Given the description of an element on the screen output the (x, y) to click on. 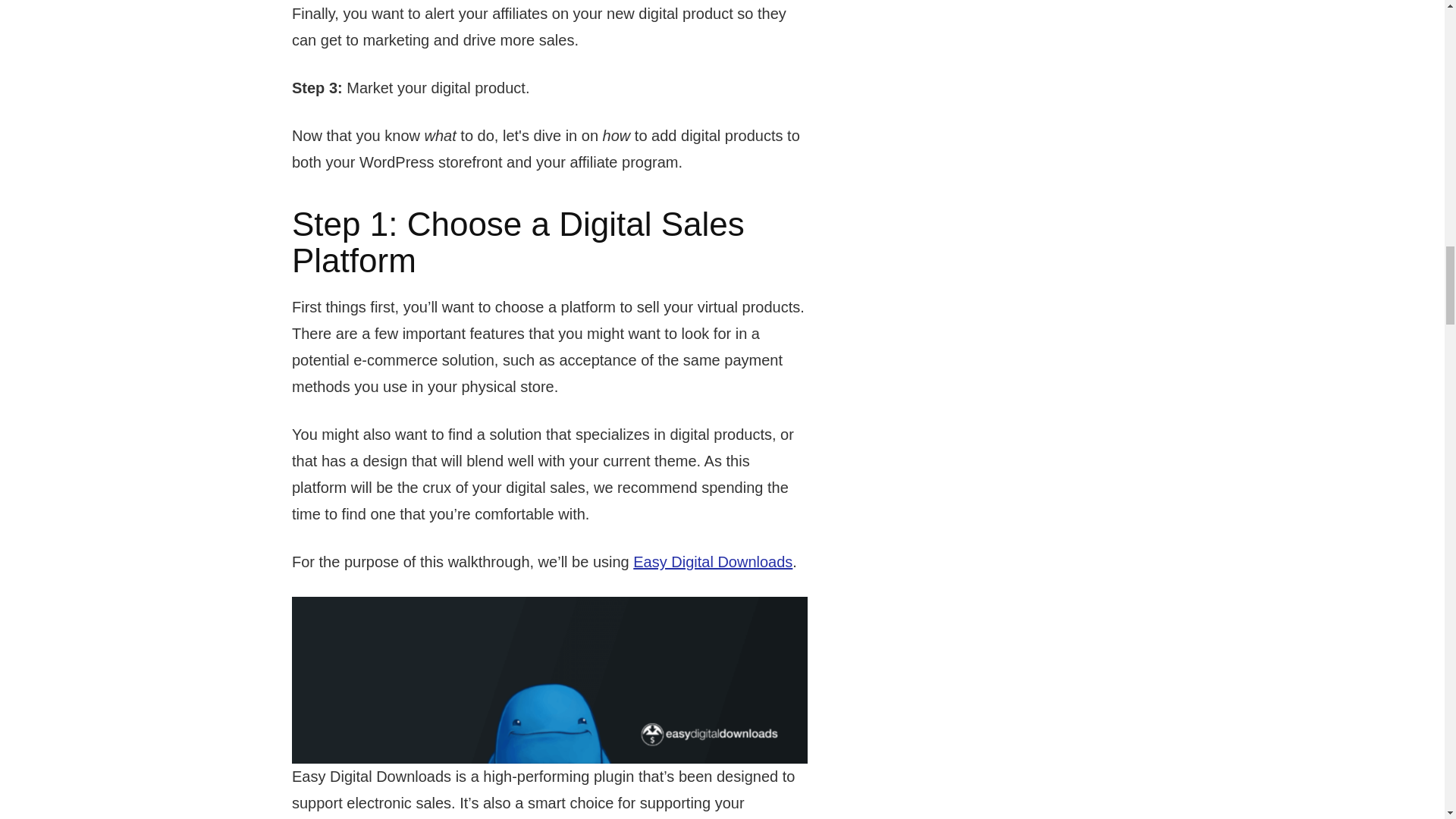
Easy Digital Downloads (712, 561)
